Given the description of an element on the screen output the (x, y) to click on. 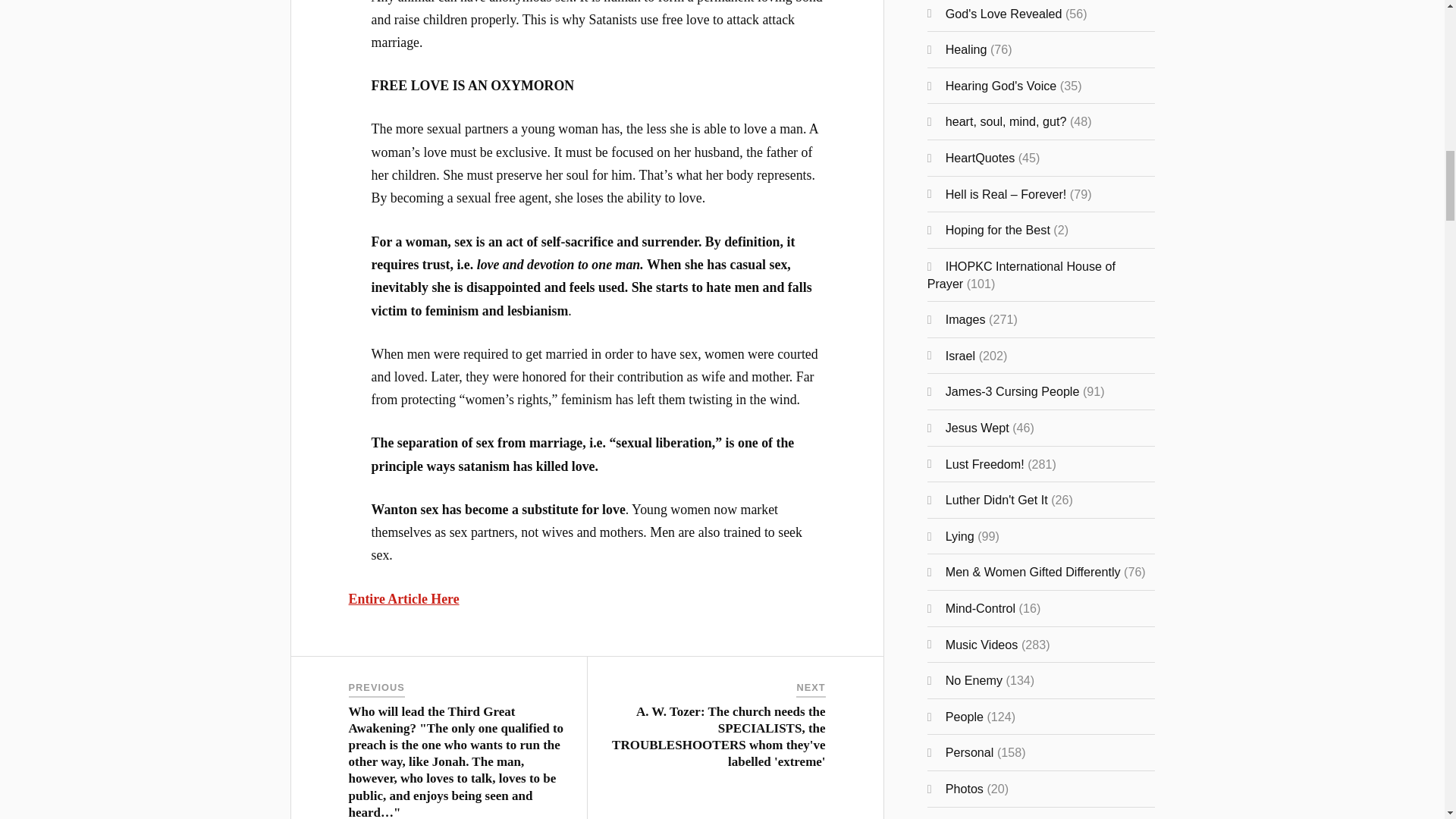
Entire Article Here (404, 598)
